Given the description of an element on the screen output the (x, y) to click on. 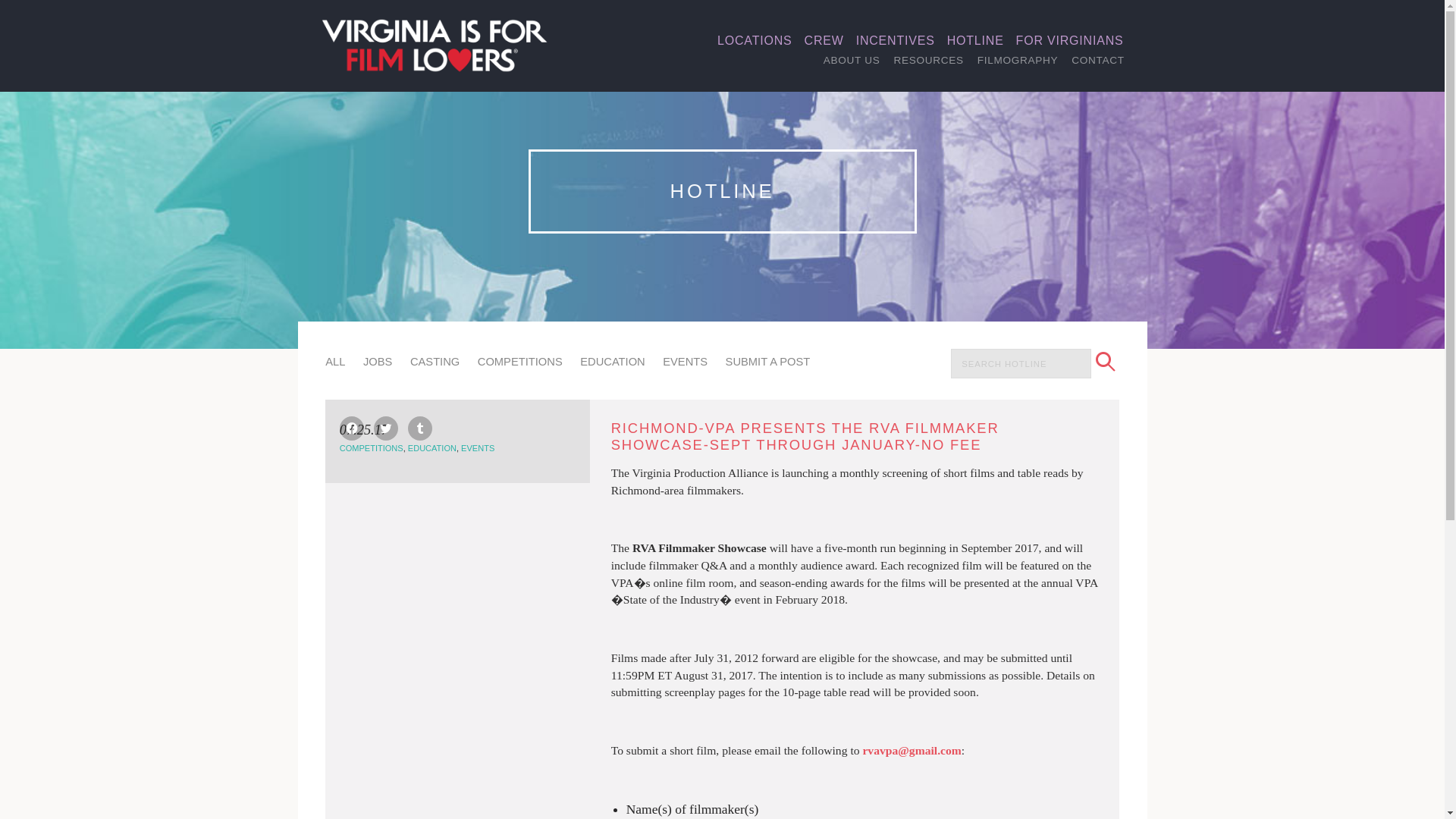
FILMOGRAPHY (1017, 60)
INCENTIVES (895, 40)
Click to share on Facebook (351, 428)
CASTING (435, 360)
LOCATIONS (754, 40)
EVENTS (478, 447)
EVENTS (684, 360)
COMPETITIONS (371, 447)
ABOUT US (851, 60)
Click to share on Tumblr (419, 428)
